Given the description of an element on the screen output the (x, y) to click on. 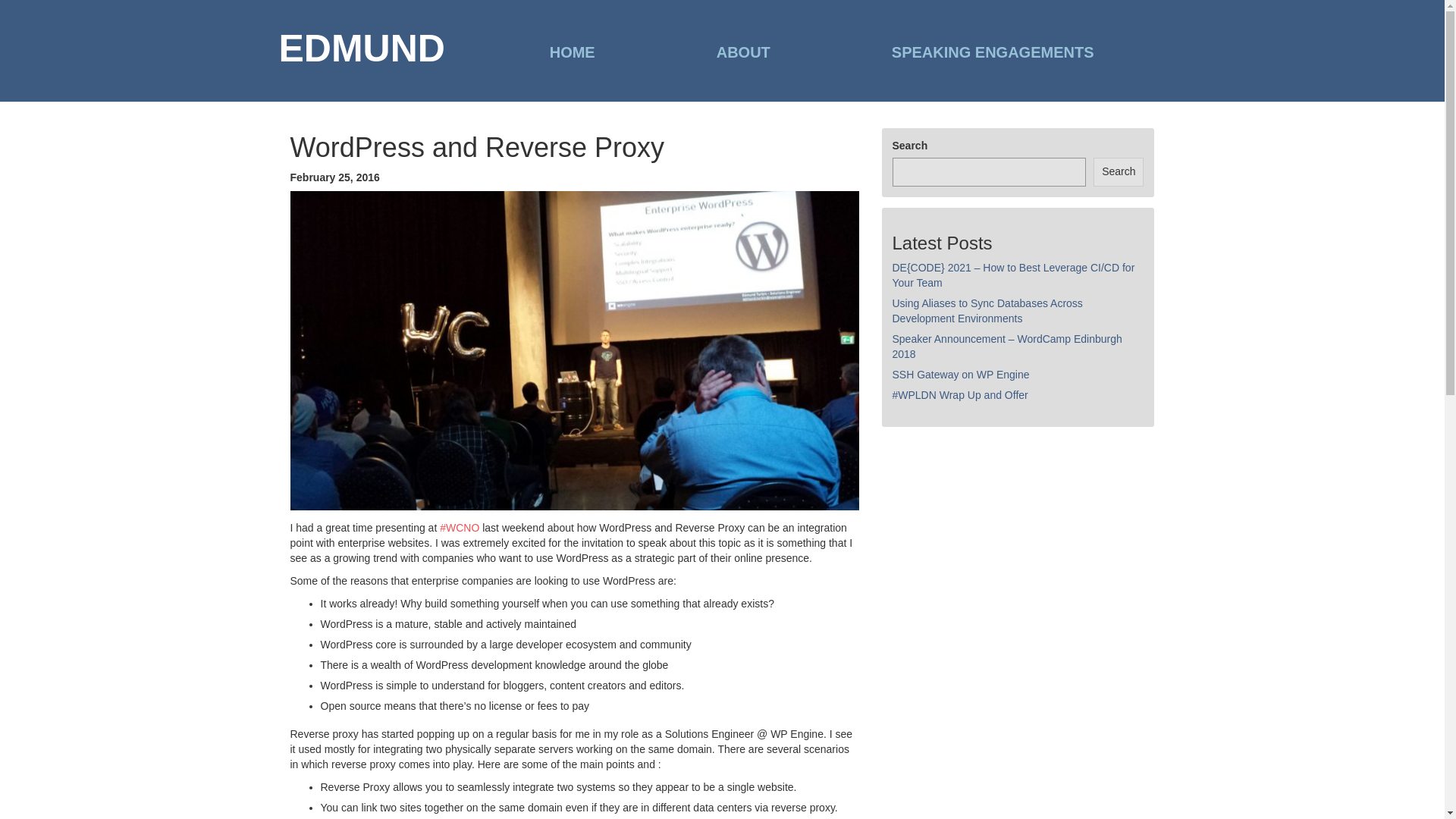
Home (572, 51)
SPEAKING ENGAGEMENTS (992, 51)
SSH Gateway on WP Engine (960, 374)
ABOUT (743, 51)
About (743, 51)
Speaking Engagements (992, 51)
HOME (572, 51)
Search (1117, 172)
EDMUND (362, 50)
